Given the description of an element on the screen output the (x, y) to click on. 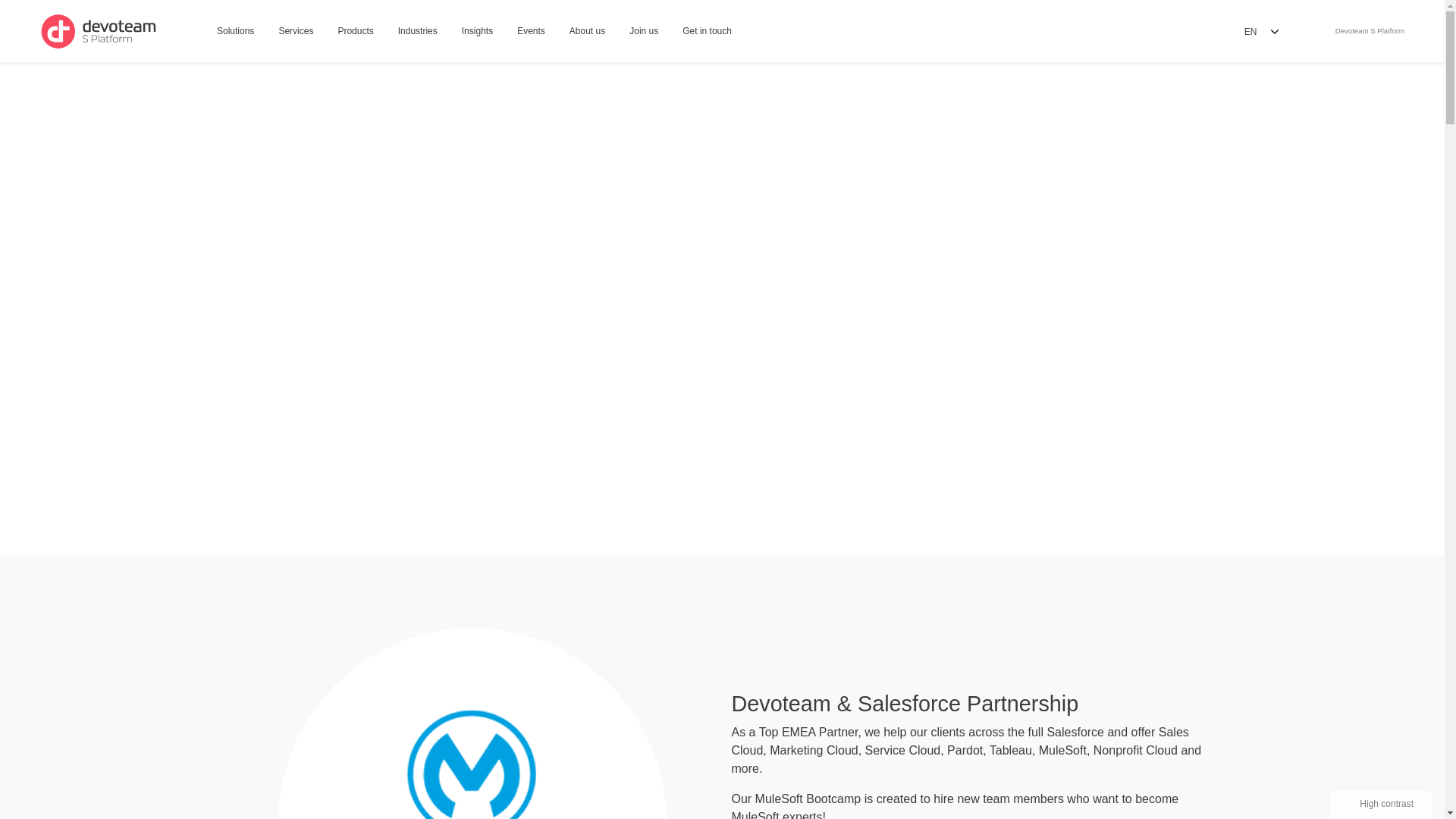
Products (354, 31)
Solutions (235, 31)
EN (1260, 31)
Industries (417, 31)
About us (1366, 31)
Services (587, 31)
Get in touch (295, 31)
